Given the description of an element on the screen output the (x, y) to click on. 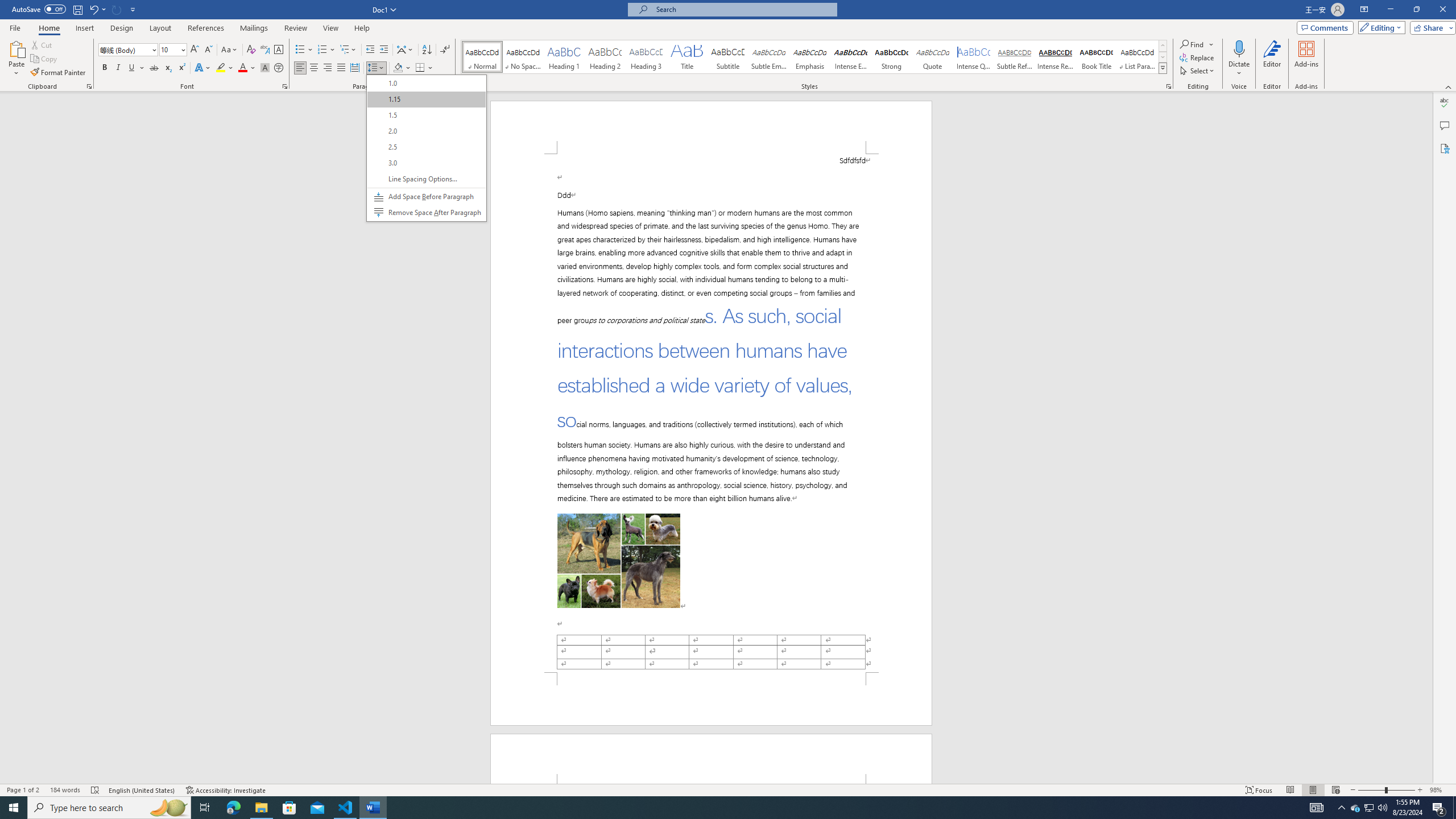
Show/Hide Editing Marks (444, 49)
Styles... (1168, 85)
Text Effects and Typography (202, 67)
